Given the description of an element on the screen output the (x, y) to click on. 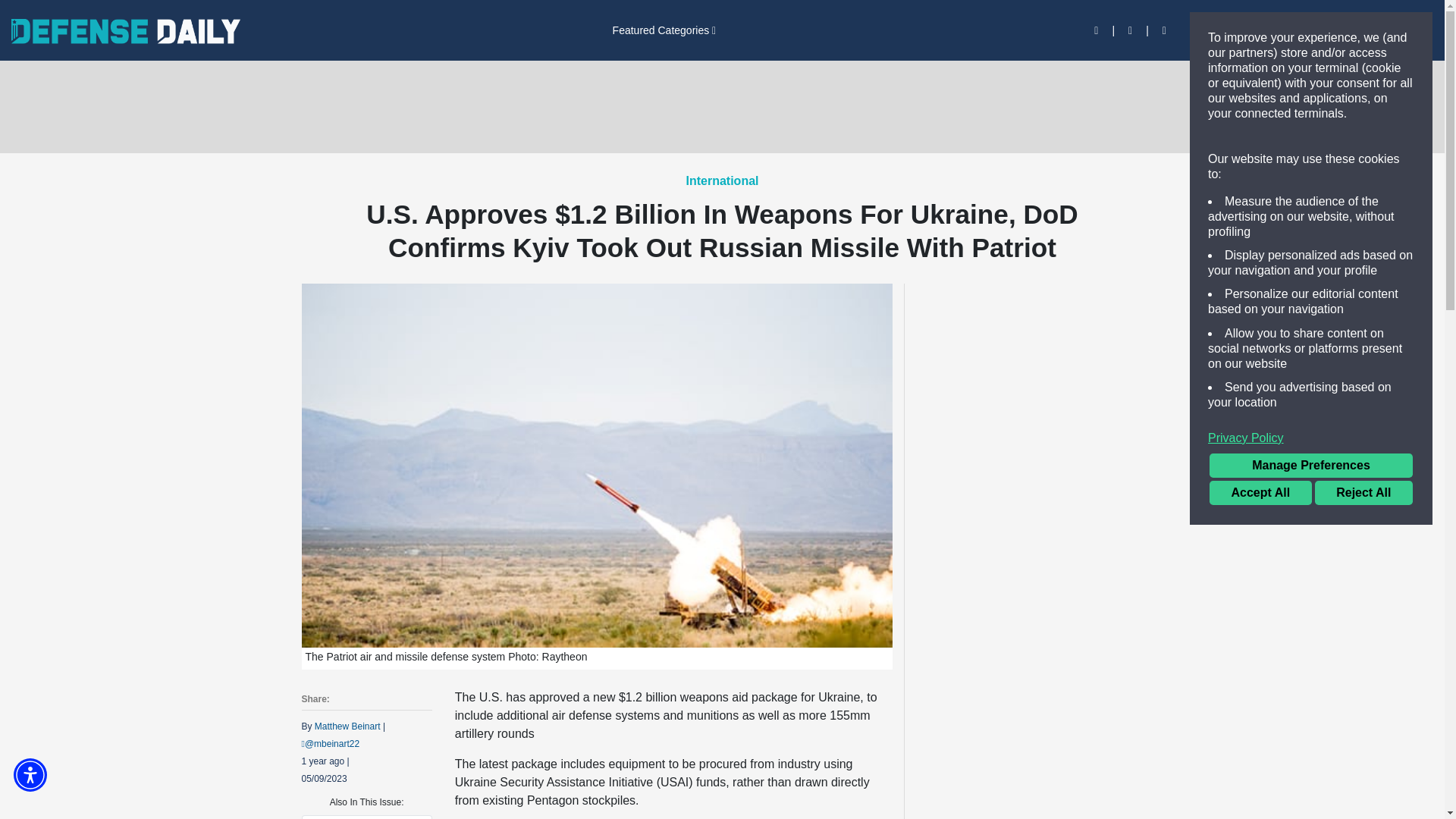
Manage Preferences (1310, 465)
Accessibility Menu (29, 774)
Privacy Policy (1310, 437)
Signup (1257, 30)
Accept All (1260, 492)
Reject All (1363, 492)
